Given the description of an element on the screen output the (x, y) to click on. 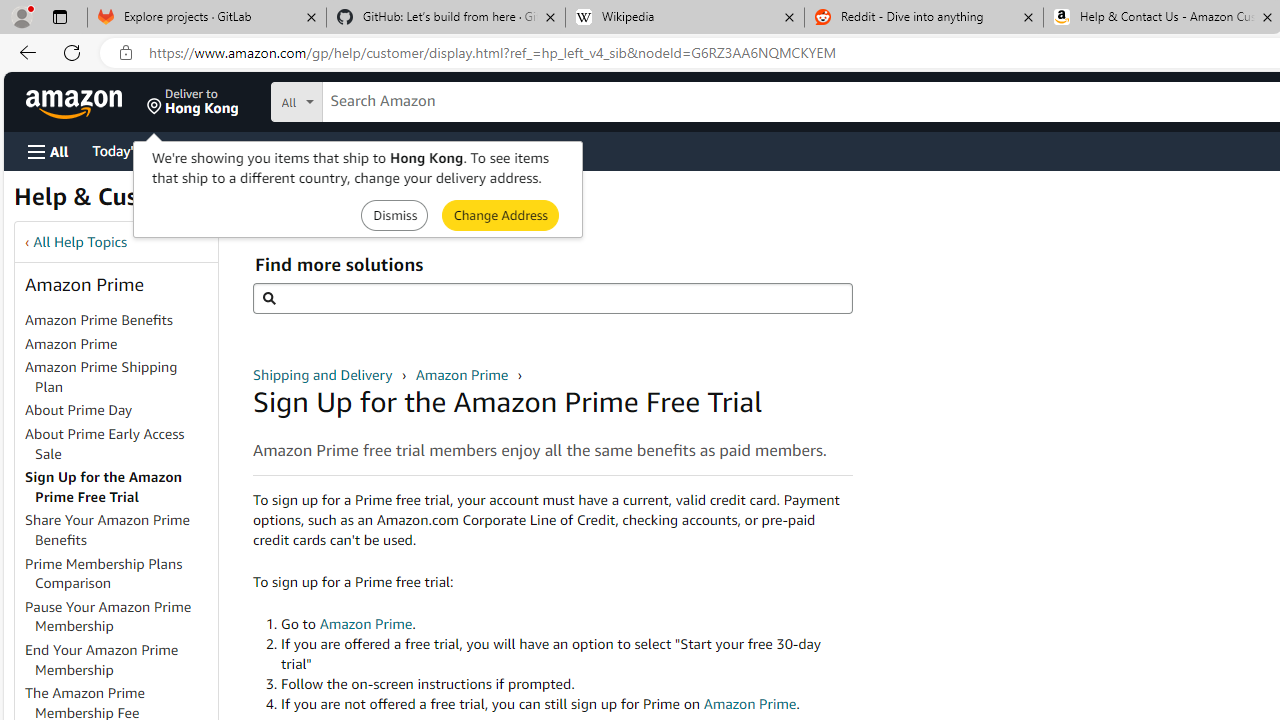
End Your Amazon Prime Membership (120, 660)
Prime Membership Plans Comparison (104, 573)
Amazon Prime Shipping Plan (101, 376)
Amazon (76, 101)
Amazon Prime Benefits (120, 321)
Sign Up for the Amazon Prime Free Trial (120, 488)
About Prime Day (120, 411)
Today's Deals (134, 150)
Follow the on-screen instructions if prompted. (566, 683)
Find more solutions (552, 297)
Open Menu (48, 151)
About Prime Day (79, 410)
